Given the description of an element on the screen output the (x, y) to click on. 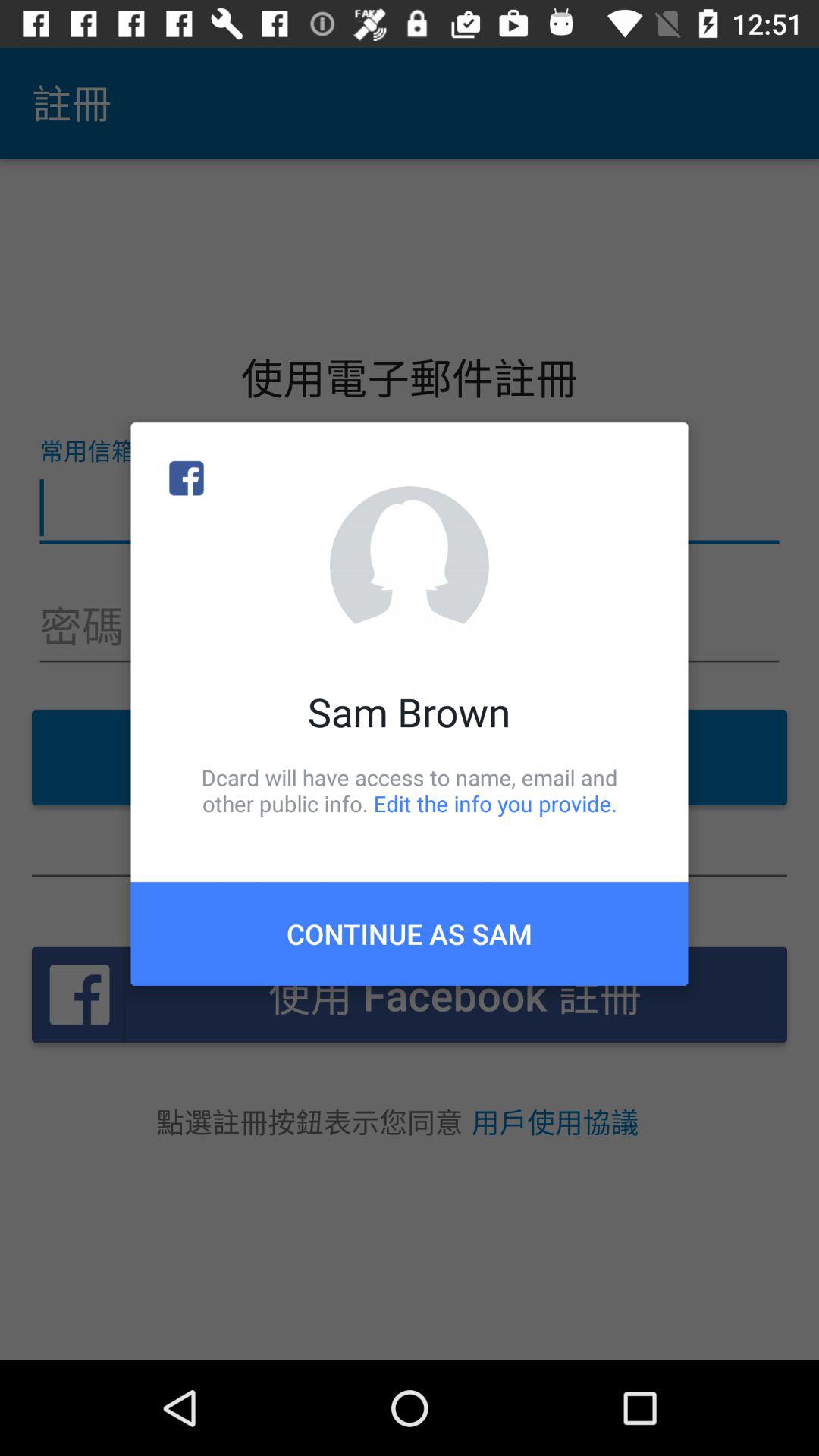
turn off the continue as sam (409, 933)
